Given the description of an element on the screen output the (x, y) to click on. 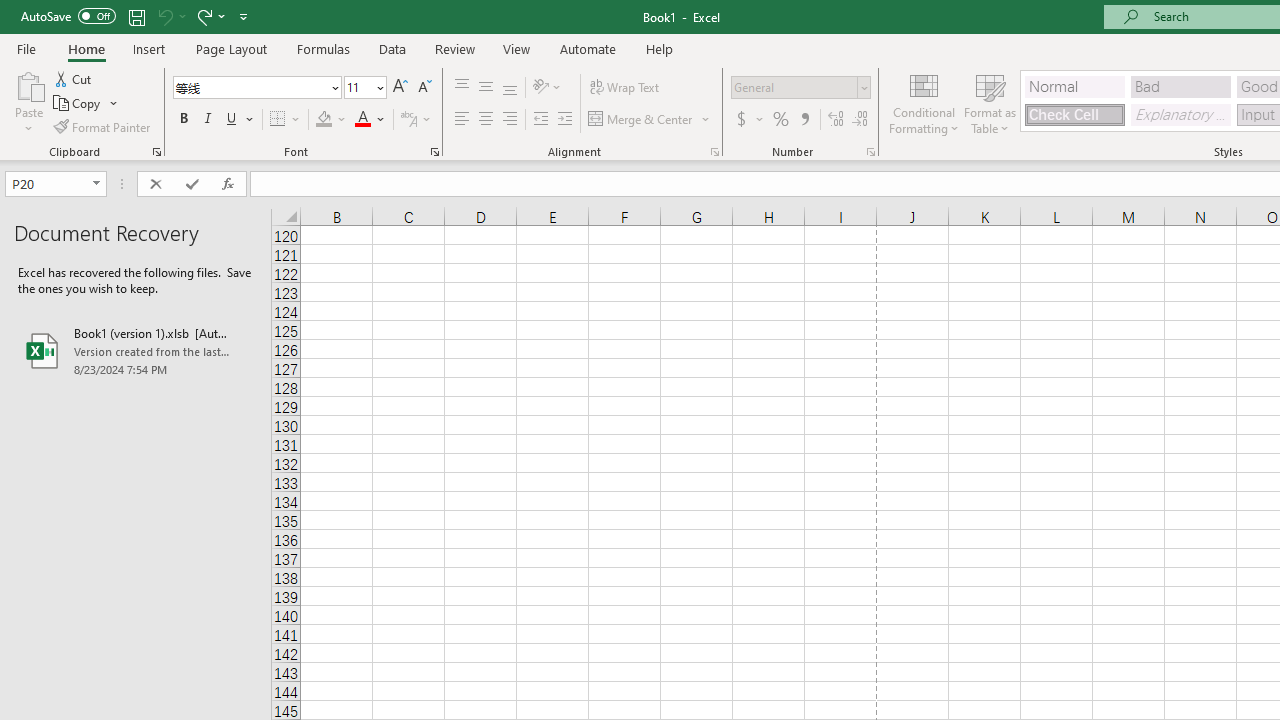
Underline (232, 119)
Copy (85, 103)
Fill Color RGB(255, 255, 0) (324, 119)
Font Color RGB(255, 0, 0) (362, 119)
Number Format (794, 87)
Format Painter (103, 126)
Increase Font Size (399, 87)
Merge & Center (649, 119)
Number Format (800, 87)
Explanatory Text (1180, 114)
